Given the description of an element on the screen output the (x, y) to click on. 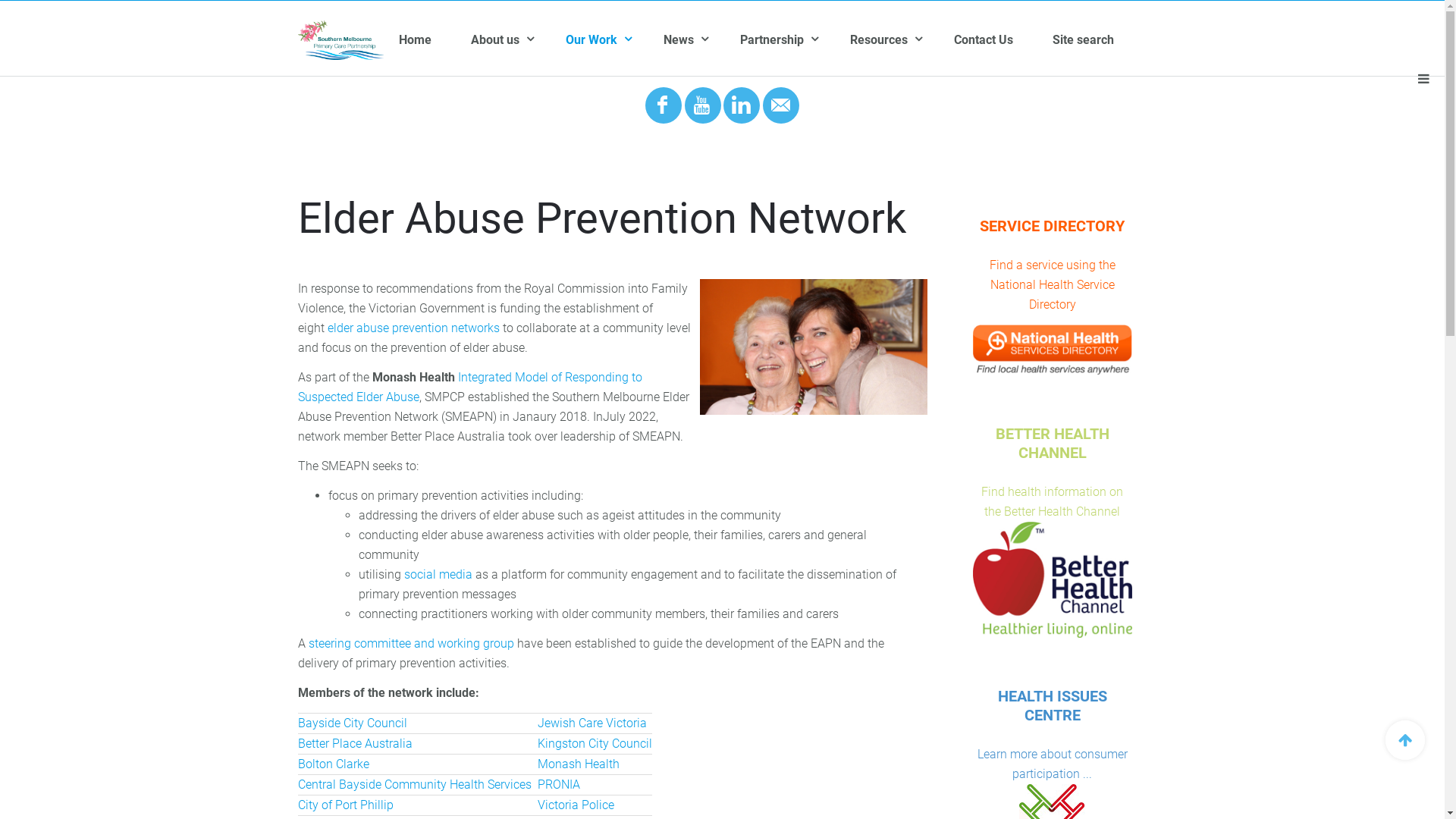
Central Bayside Community Health Services Element type: text (413, 784)
Home Element type: text (434, 39)
steering committee and working group Element type: text (410, 643)
Back to Top Element type: hover (1404, 739)
Monash Health Element type: text (577, 763)
Kingston City Council Element type: text (593, 743)
Integrated Model of Responding to Suspected Elder Abuse Element type: text (469, 387)
Bolton Clarke Element type: text (332, 763)
About us Element type: text (517, 39)
social media Element type: text (437, 574)
Southern Melbourne Primary Care Partnership - SMPCP Element type: hover (340, 39)
Resources Element type: text (901, 39)
Our Work Element type: text (614, 39)
Jewish Care Victoria Element type: text (591, 722)
Contact Us Element type: text (1002, 39)
Partnership Element type: text (795, 39)
 elder abuse prevention networks Element type: text (411, 327)
City of Port Phillip Element type: text (344, 804)
Victoria Police Element type: text (574, 804)
Bayside City Council Element type: text (351, 722)
News Element type: text (701, 39)
Site search Element type: text (1102, 39)
Better Place Australia Element type: text (354, 743)
PRONIA Element type: text (557, 784)
